Given the description of an element on the screen output the (x, y) to click on. 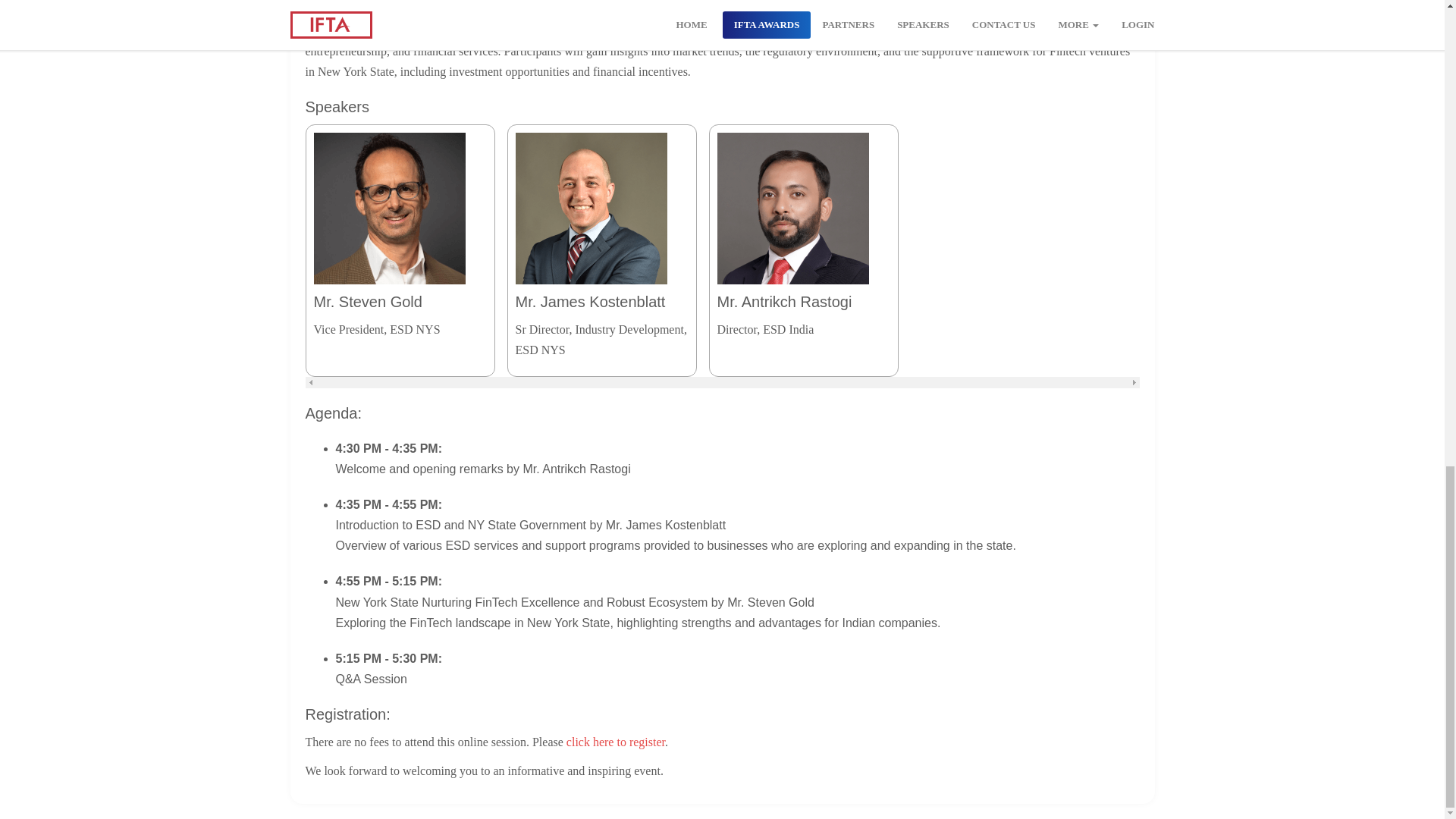
click here to register (615, 741)
